Given the description of an element on the screen output the (x, y) to click on. 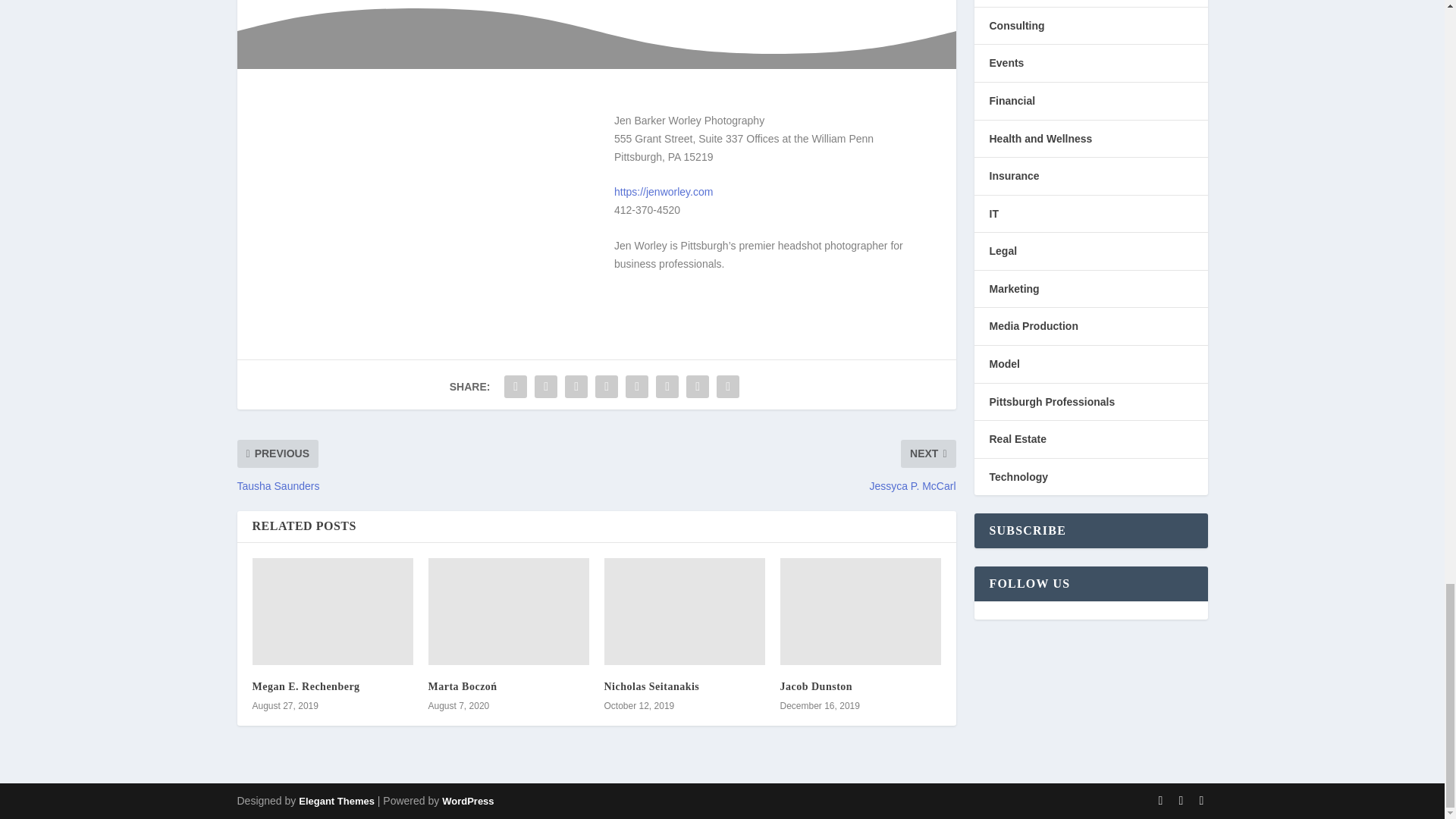
Megan E. Rechenberg (305, 686)
Nicholas Seitanakis (651, 686)
Jacob Dunston (814, 686)
Megan E. Rechenberg (331, 611)
